Given the description of an element on the screen output the (x, y) to click on. 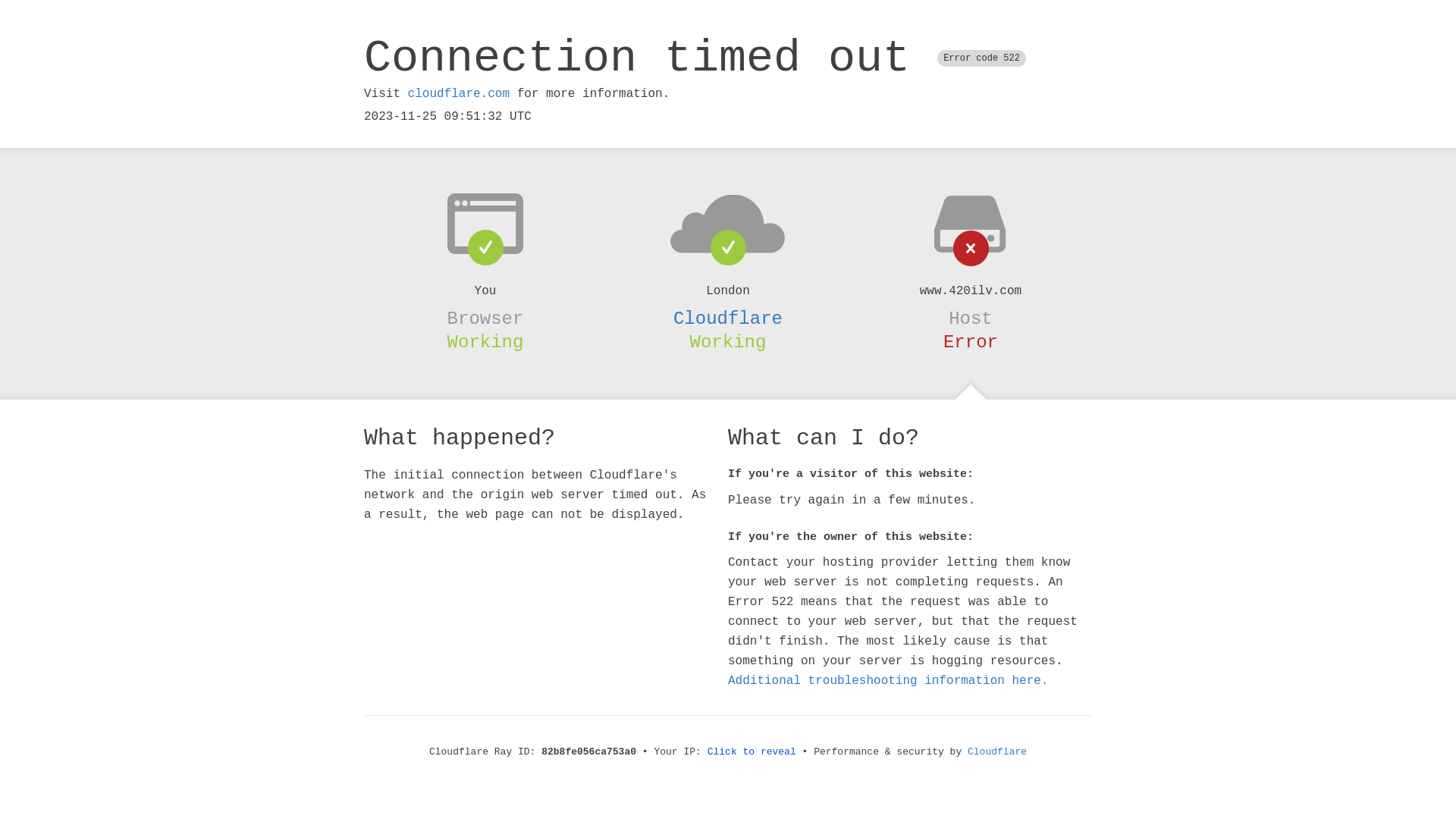
Cloudflare Element type: text (996, 751)
Additional troubleshooting information here. Element type: text (888, 680)
Click to reveal Element type: text (751, 751)
cloudflare.com Element type: text (458, 93)
Cloudflare Element type: text (727, 318)
